Given the description of an element on the screen output the (x, y) to click on. 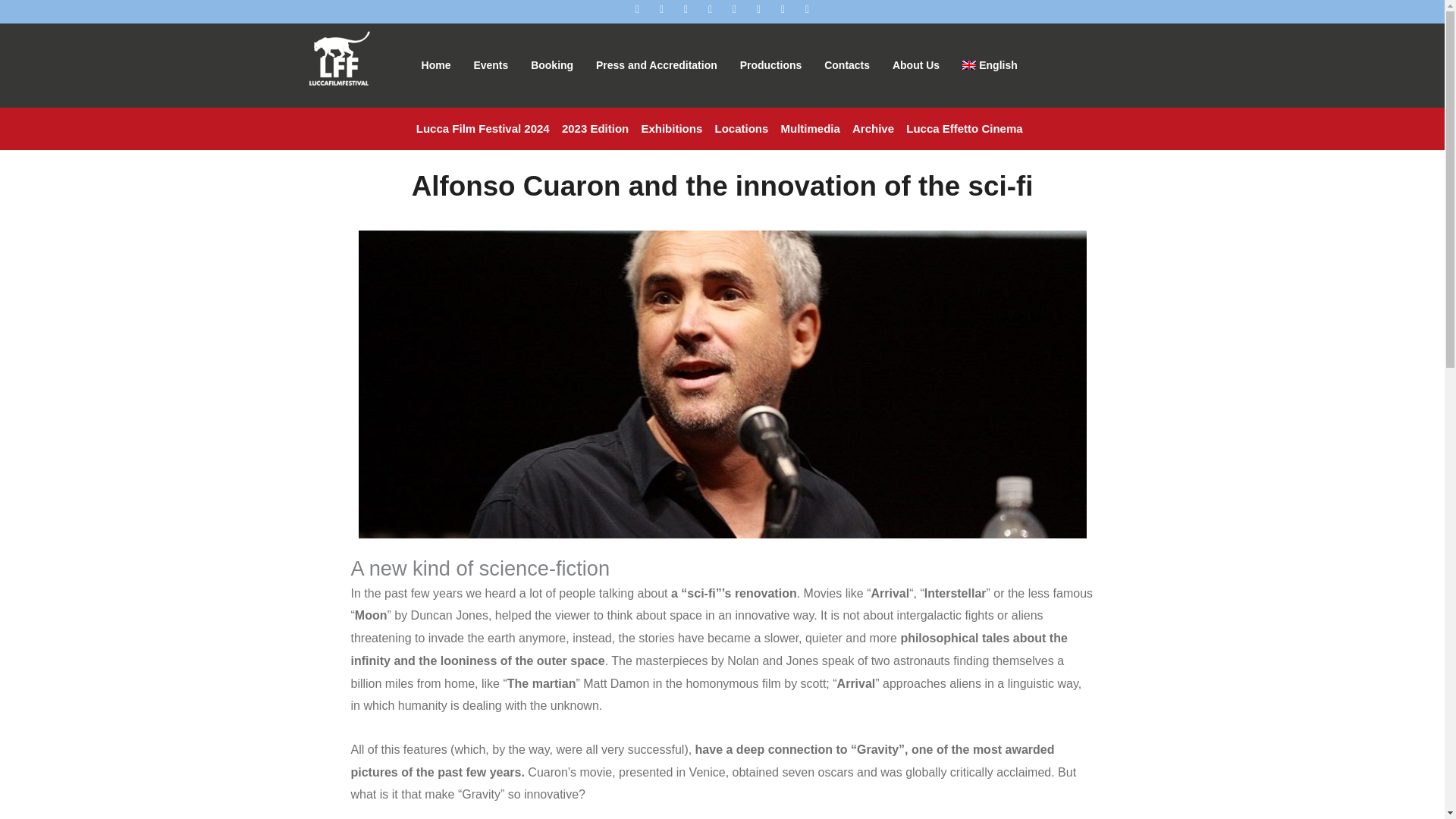
Contacts (846, 64)
About Us (915, 64)
Booking (552, 64)
Press and Accreditation (657, 64)
Home (436, 64)
Lucca Film Festival 2024 (483, 128)
English (989, 64)
Productions (771, 64)
Events (490, 64)
2023 Edition (595, 128)
English (989, 64)
